Given the description of an element on the screen output the (x, y) to click on. 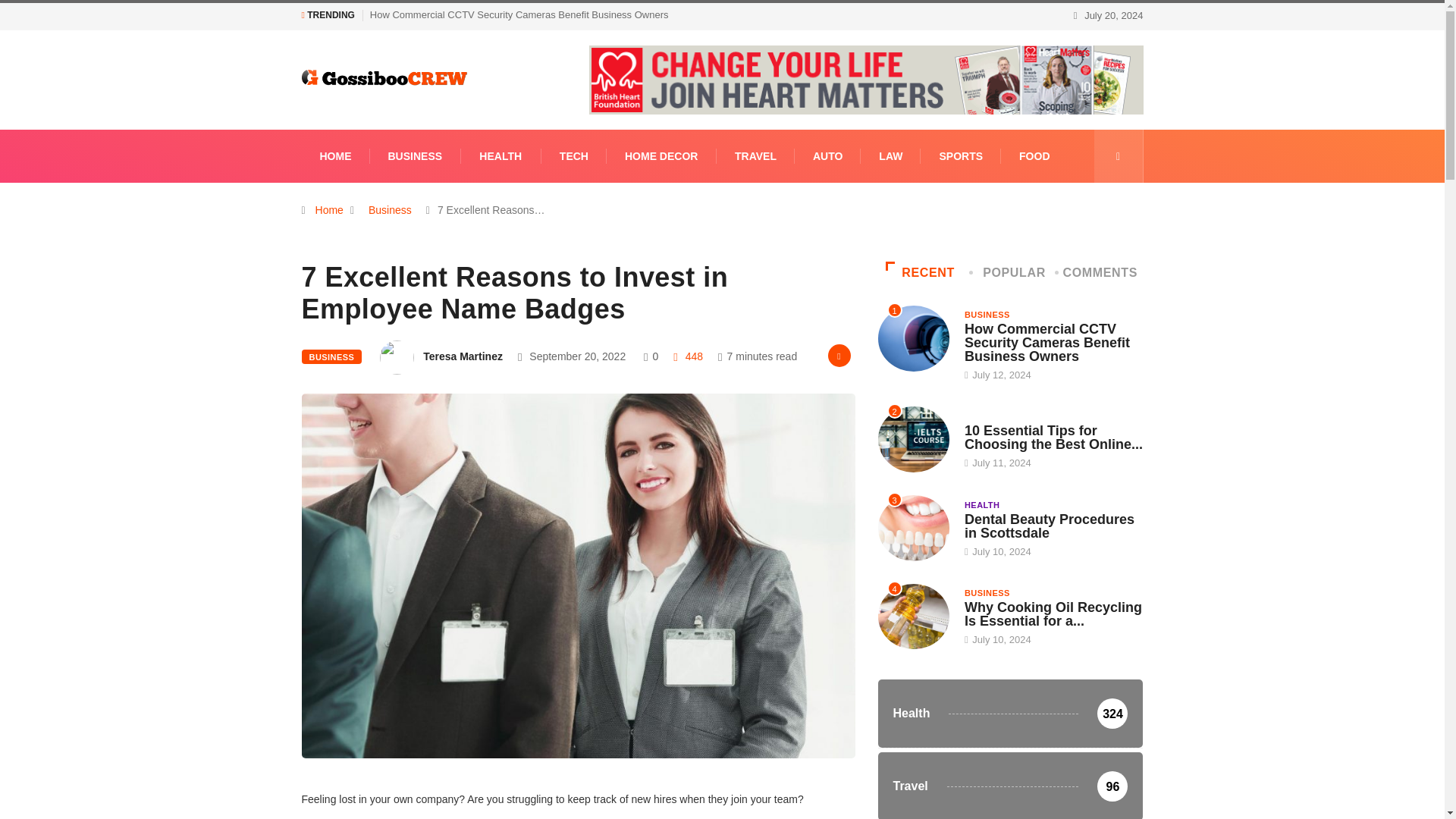
popup modal for search (1117, 155)
Teresa Martinez (462, 356)
HOME DECOR (661, 155)
BUSINESS (331, 356)
BUSINESS (416, 155)
Business (390, 209)
Home (329, 209)
How Commercial CCTV Security Cameras Benefit Business Owners (518, 14)
